Given the description of an element on the screen output the (x, y) to click on. 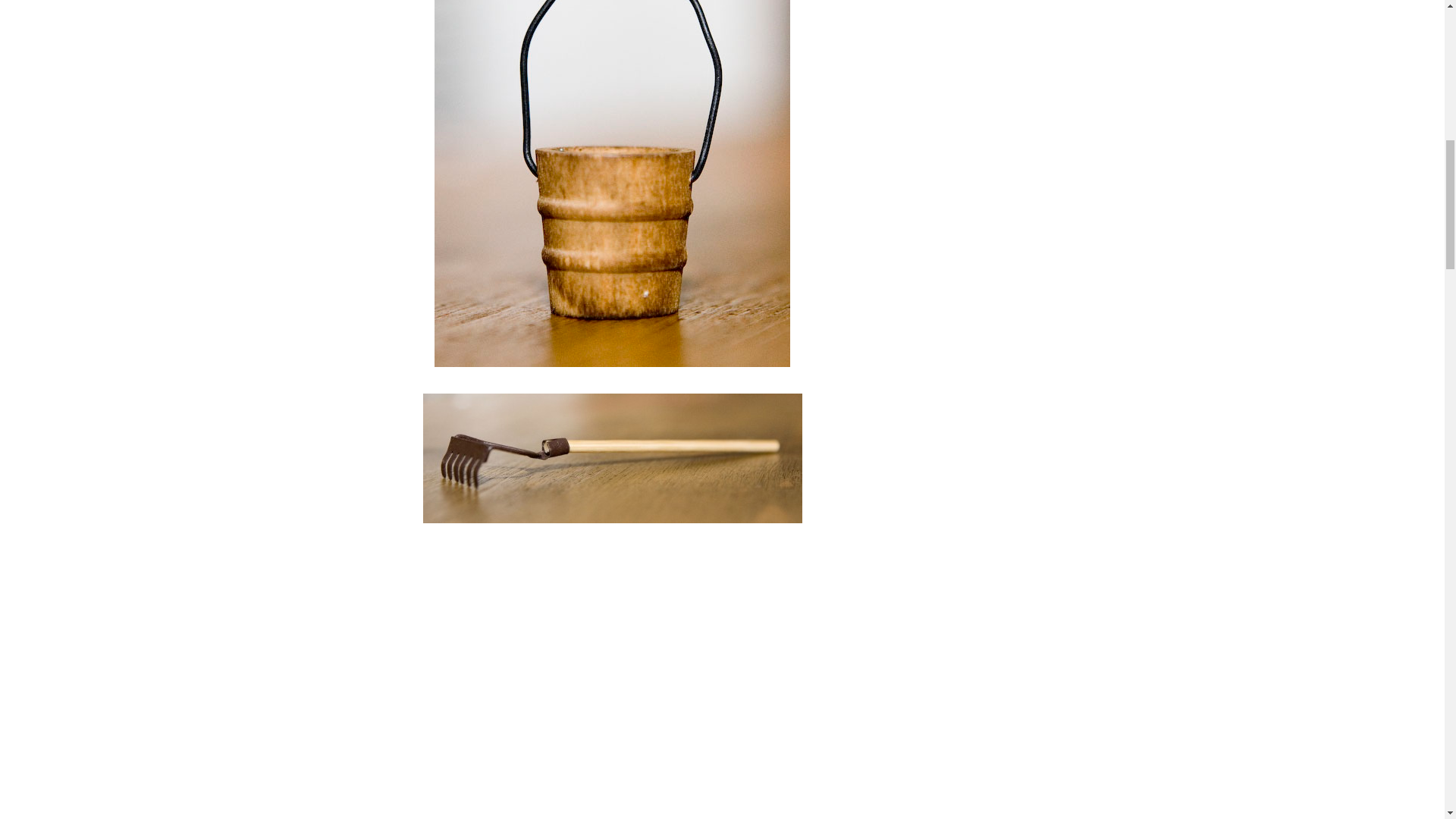
jan 007 (611, 679)
jan 012 (611, 457)
